Given the description of an element on the screen output the (x, y) to click on. 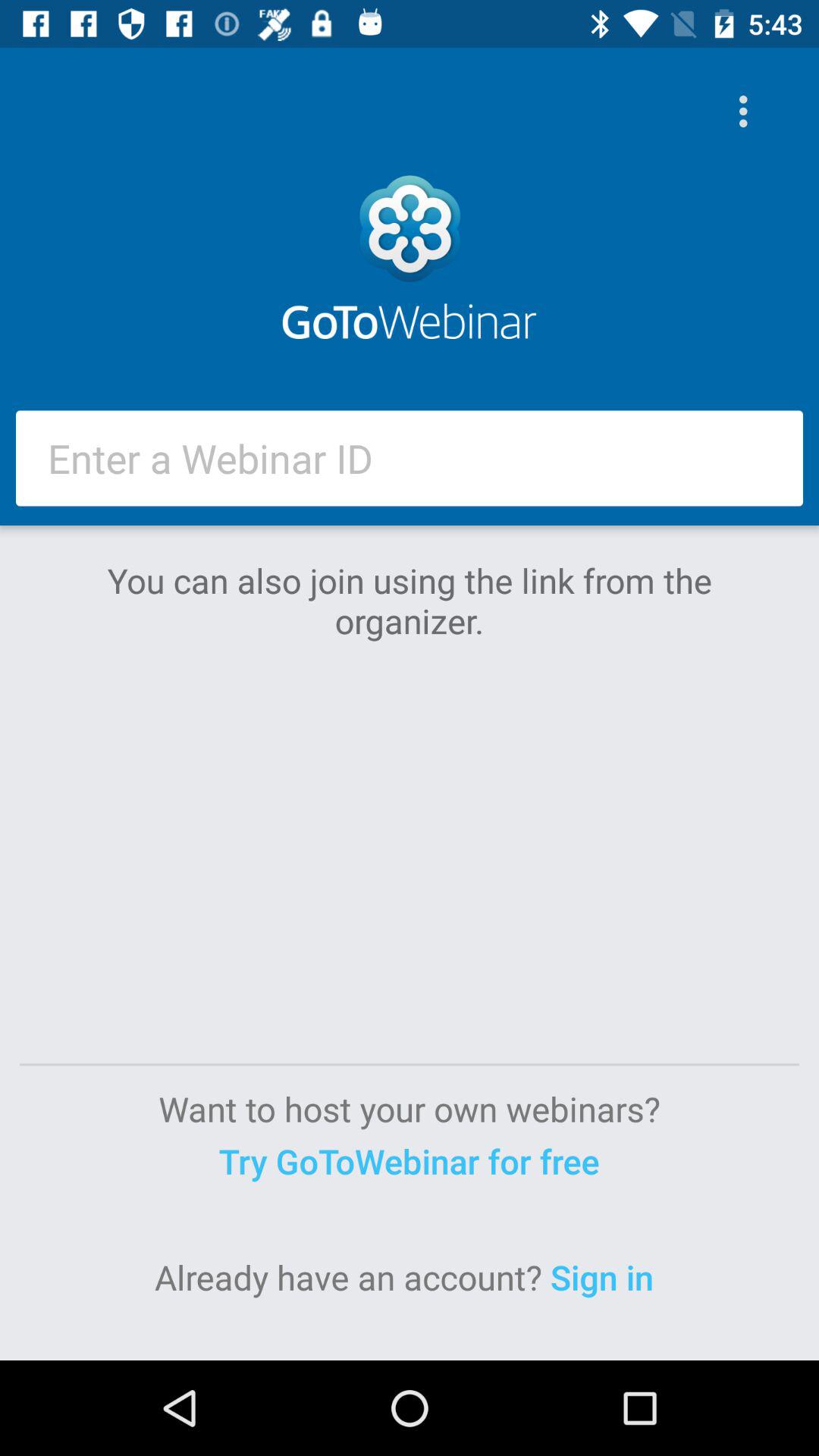
turn on item below the try gotowebinar for icon (606, 1276)
